Given the description of an element on the screen output the (x, y) to click on. 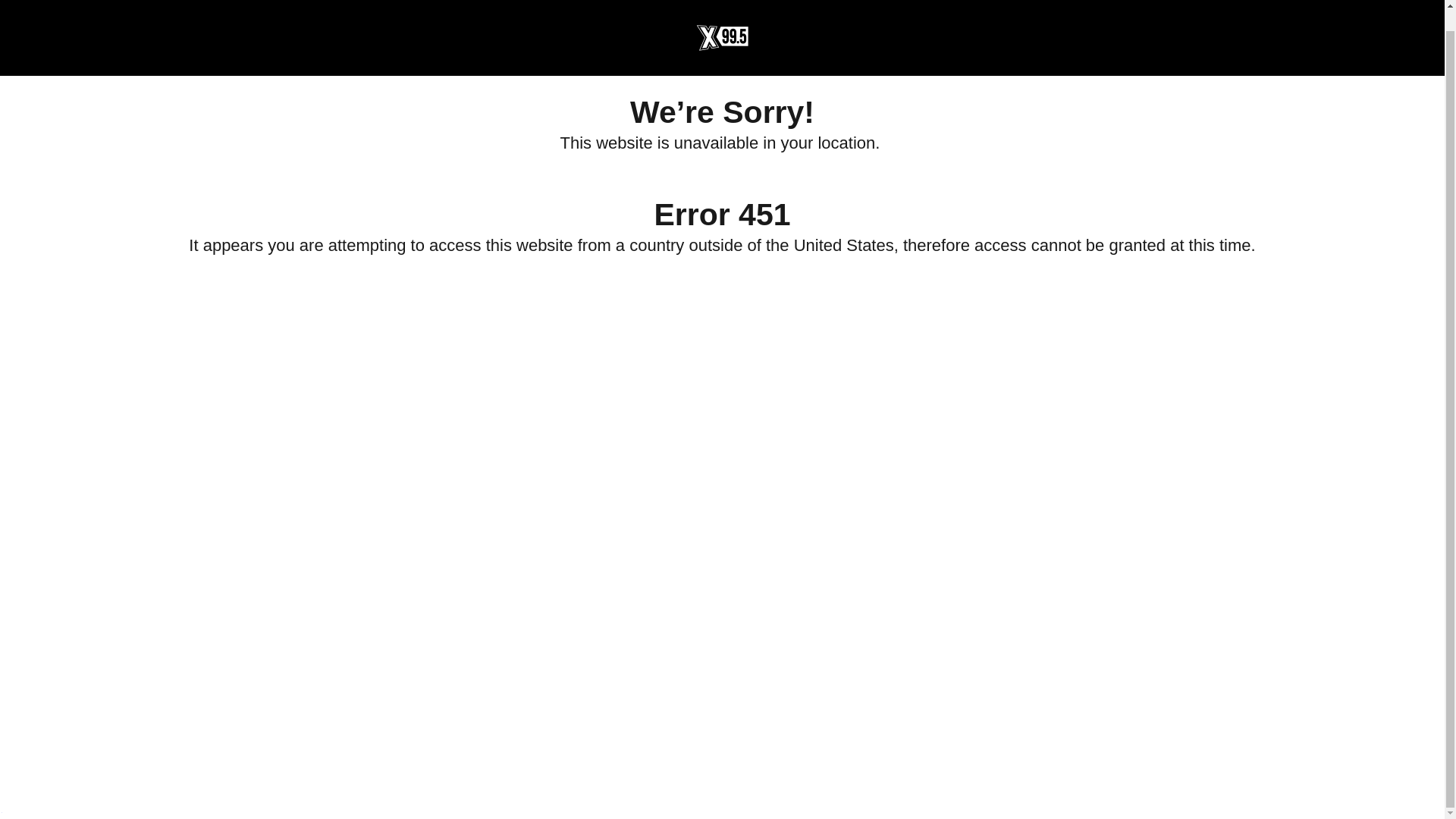
X99.5 (721, 17)
